Given the description of an element on the screen output the (x, y) to click on. 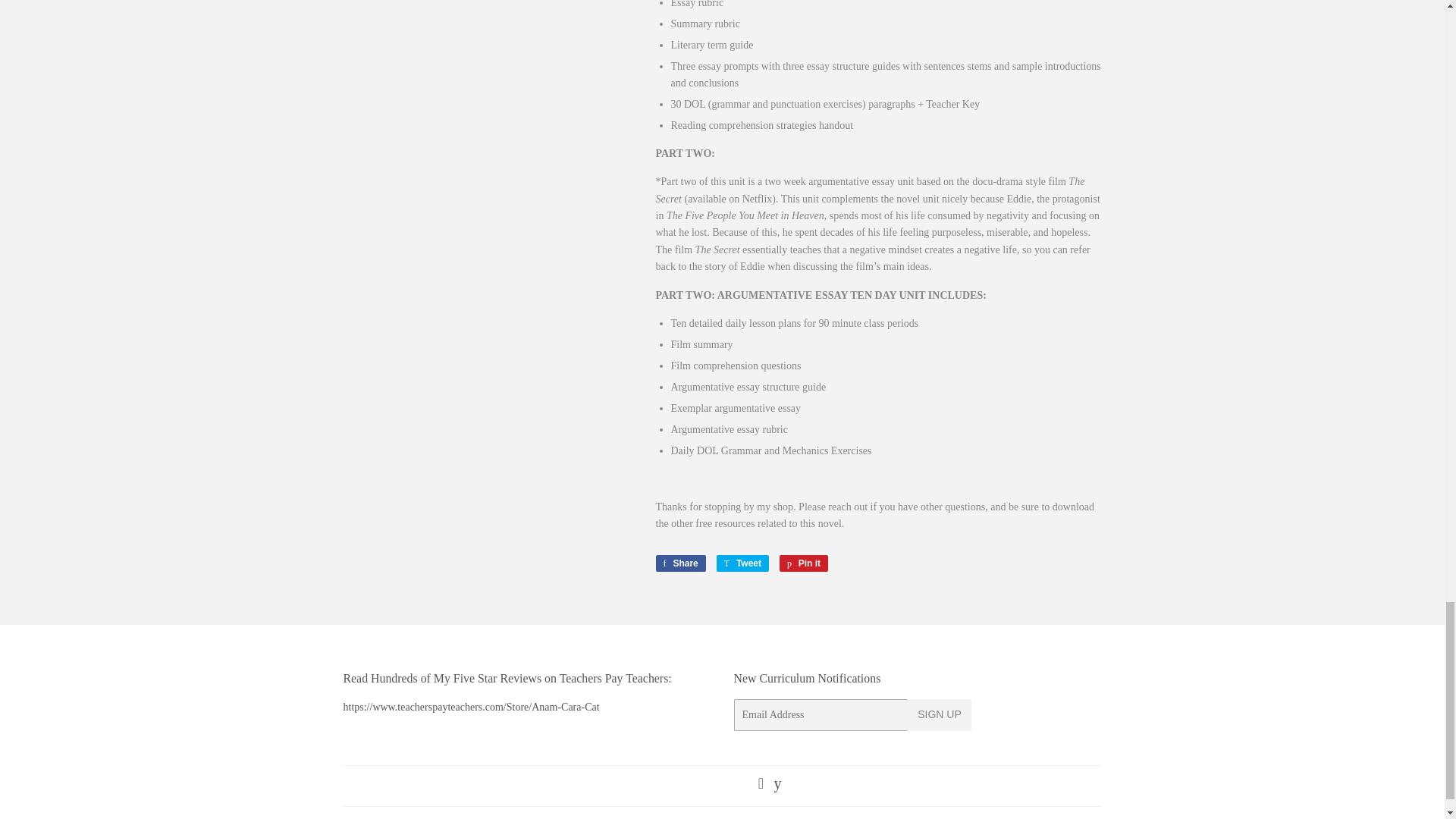
Share on Facebook (803, 563)
Pin on Pinterest (679, 563)
SIGN UP (803, 563)
Tweet on Twitter (742, 563)
